Given the description of an element on the screen output the (x, y) to click on. 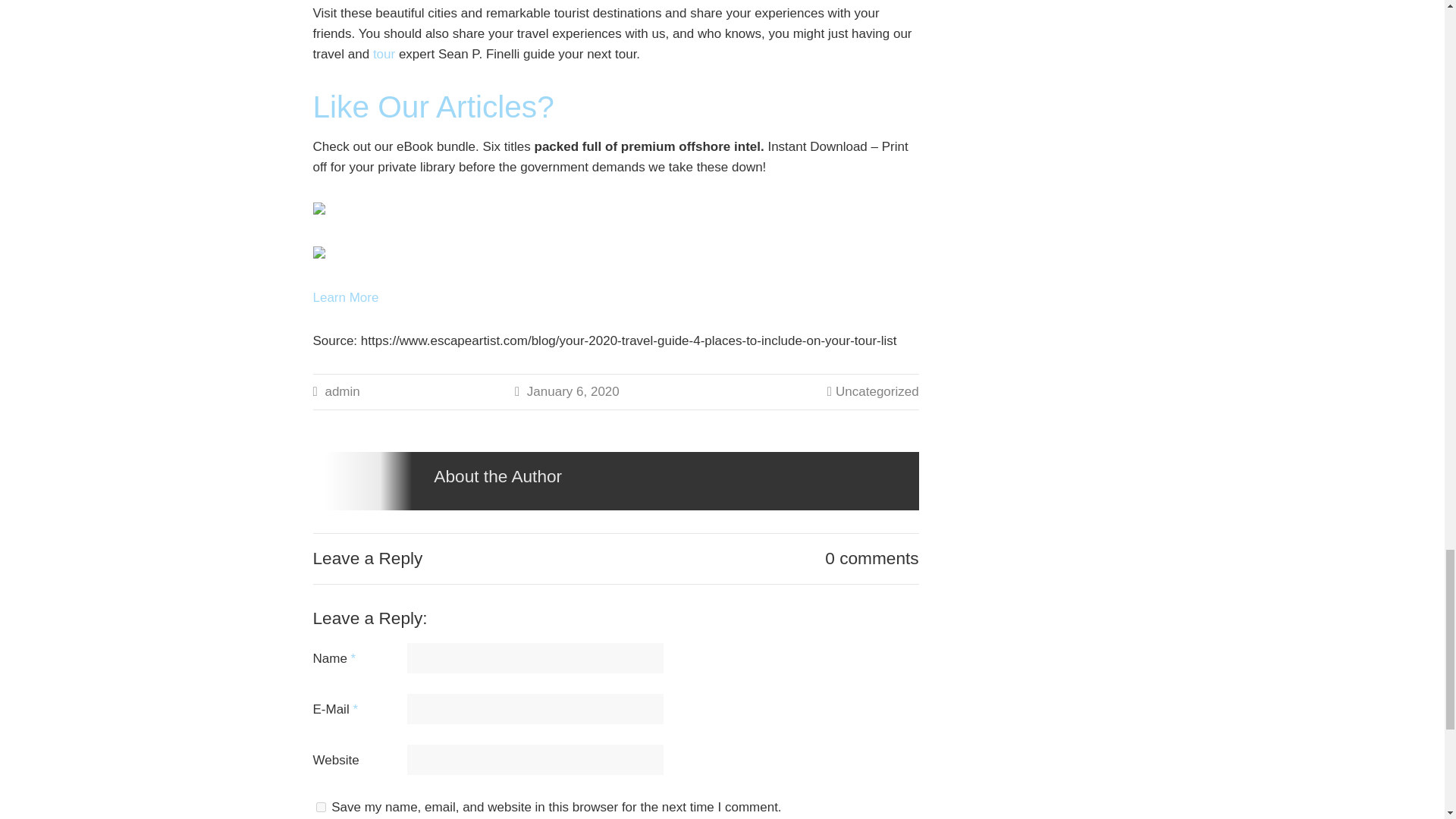
admin (341, 391)
Learn More (345, 297)
Uncategorized (876, 391)
yes (319, 807)
tour (383, 53)
